Given the description of an element on the screen output the (x, y) to click on. 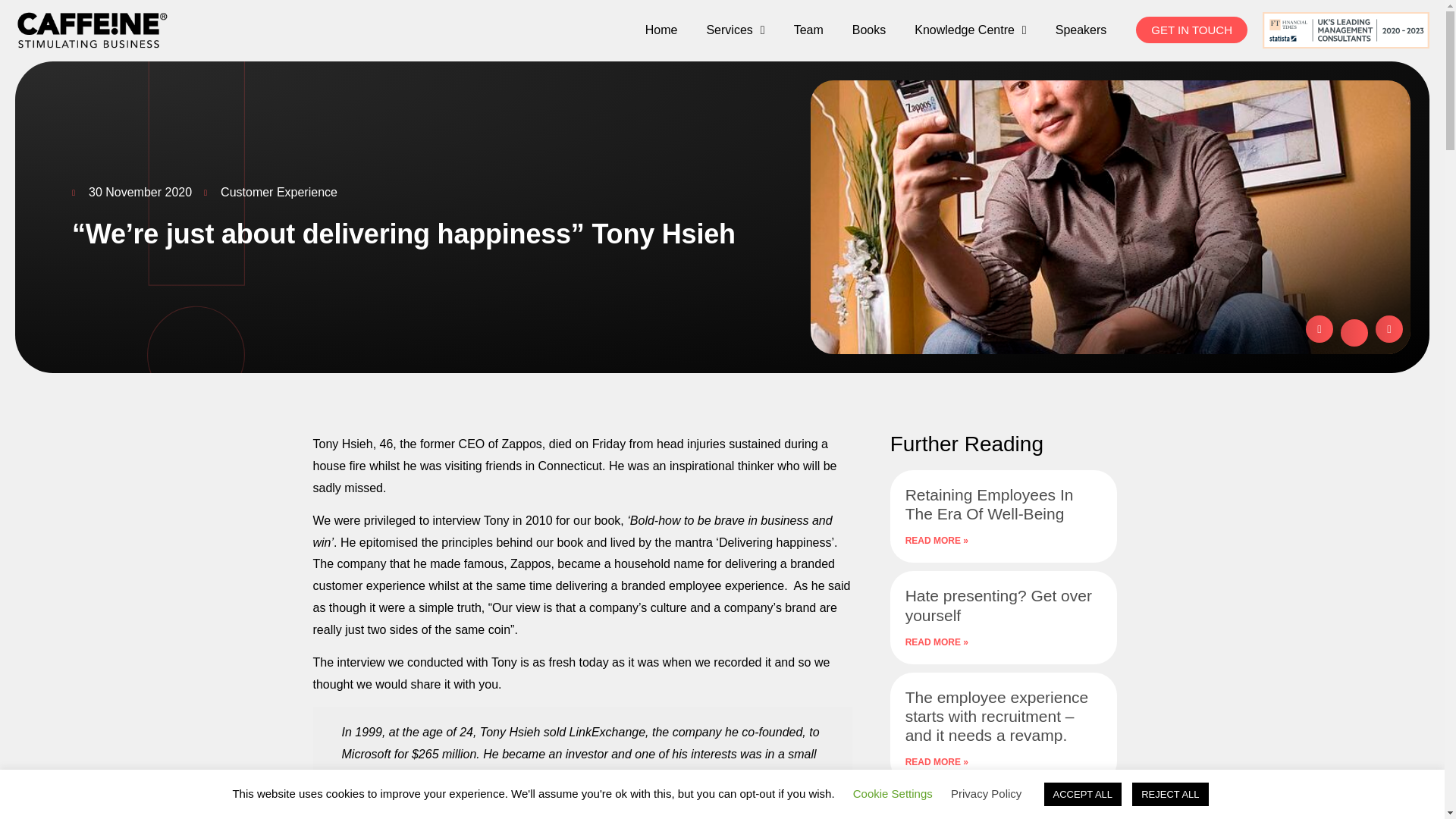
Services (734, 29)
Speakers (1081, 29)
Knowledge Centre (970, 29)
GET IN TOUCH (1191, 29)
Team (808, 29)
Home (661, 29)
Books (868, 29)
